Given the description of an element on the screen output the (x, y) to click on. 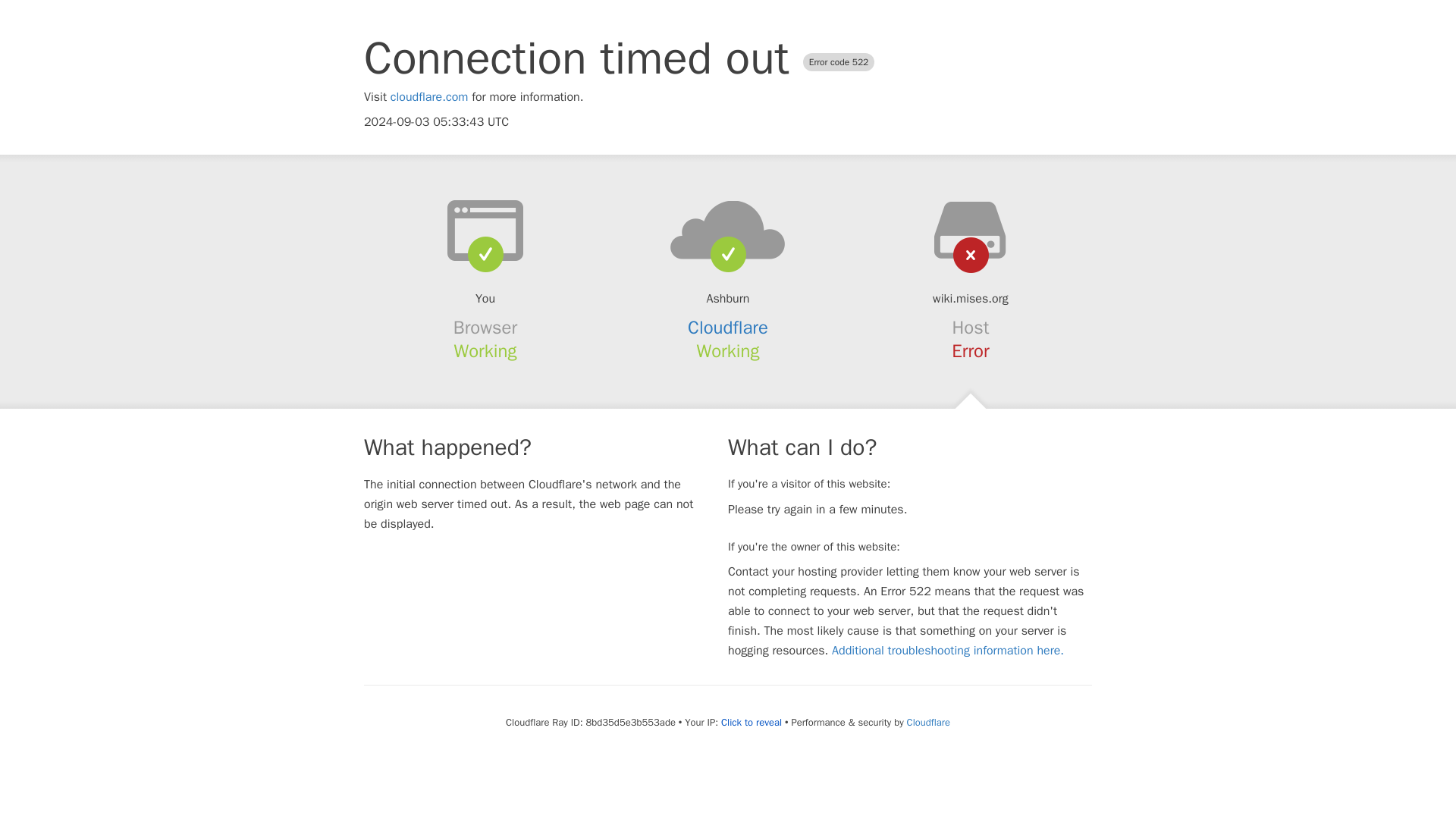
Cloudflare (727, 327)
Click to reveal (750, 722)
cloudflare.com (429, 96)
Cloudflare (928, 721)
Additional troubleshooting information here. (947, 650)
